Given the description of an element on the screen output the (x, y) to click on. 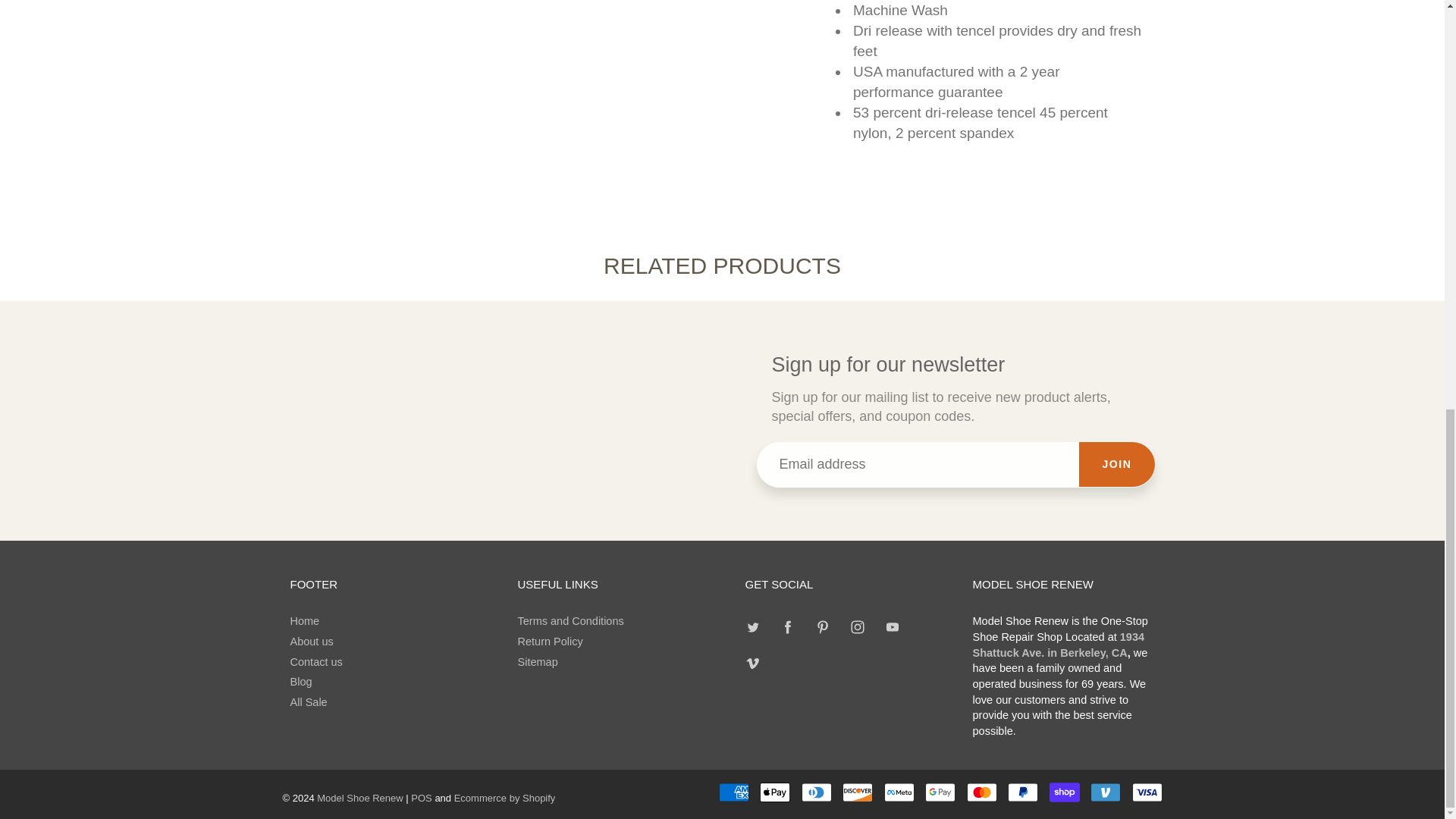
Vimeo (753, 663)
American Express (734, 792)
Visa (1146, 792)
Instagram (857, 626)
Twitter (753, 626)
Apple Pay (775, 792)
Pinterest (822, 626)
Google Pay (939, 792)
Facebook (788, 626)
Venmo (1105, 792)
